Given the description of an element on the screen output the (x, y) to click on. 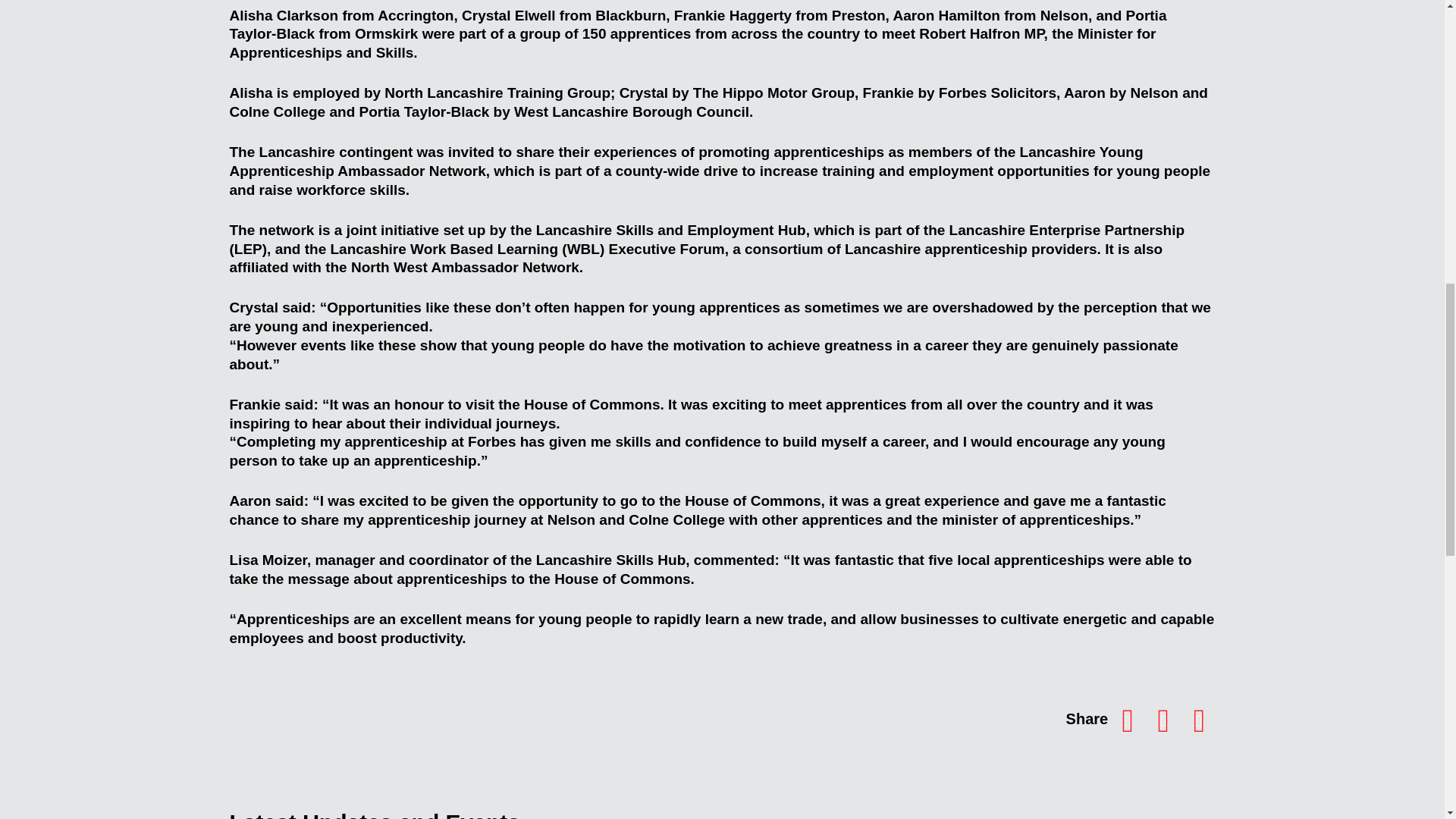
Share on Linkedin (1163, 719)
Share on Facebook (1128, 719)
Share on Twitter (1198, 719)
